Given the description of an element on the screen output the (x, y) to click on. 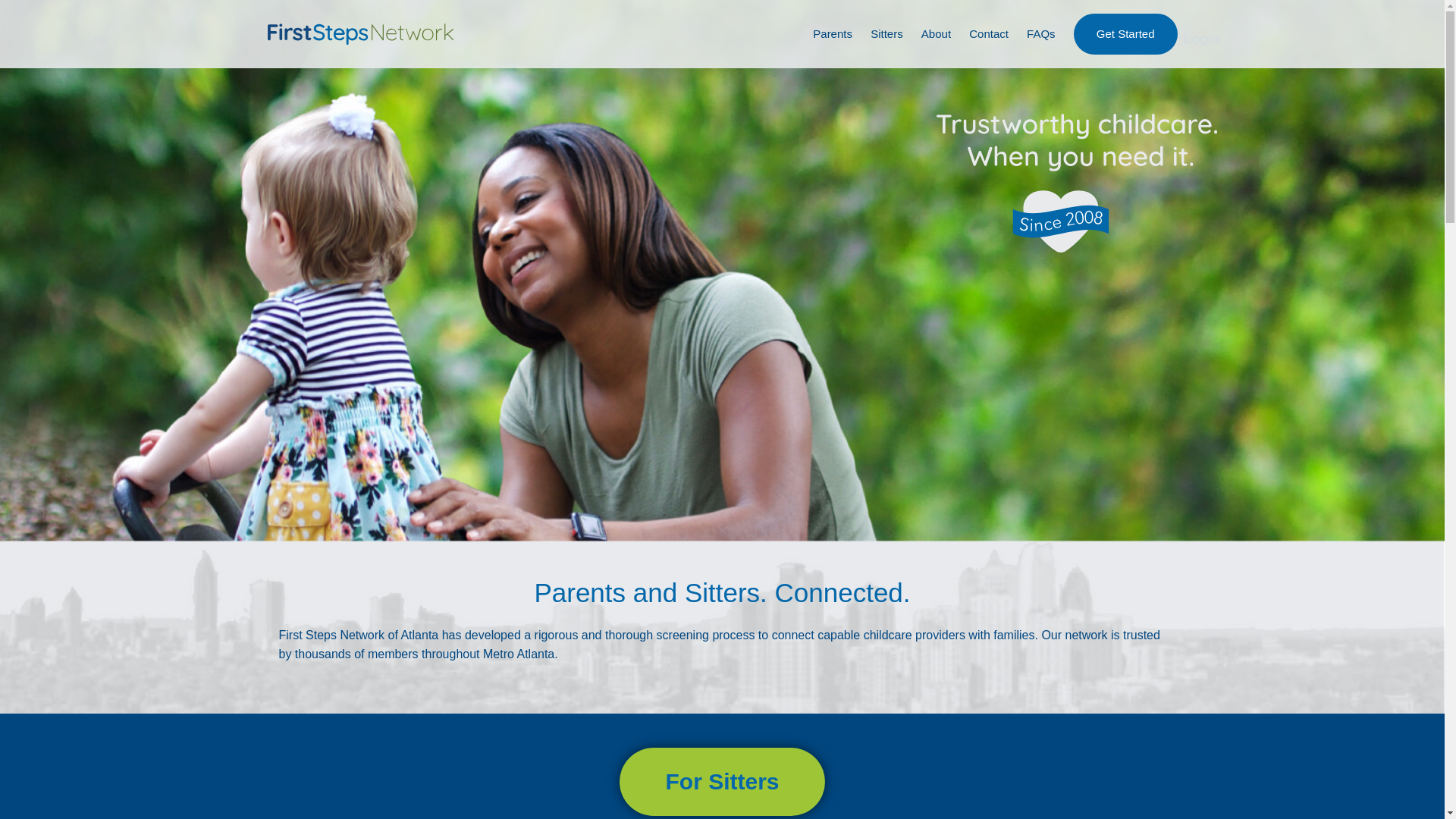
About (935, 34)
Get Started (1125, 33)
Parents (831, 34)
Contact (989, 34)
FAQs (1040, 34)
Sitters (886, 34)
For Sitters (722, 781)
